Given the description of an element on the screen output the (x, y) to click on. 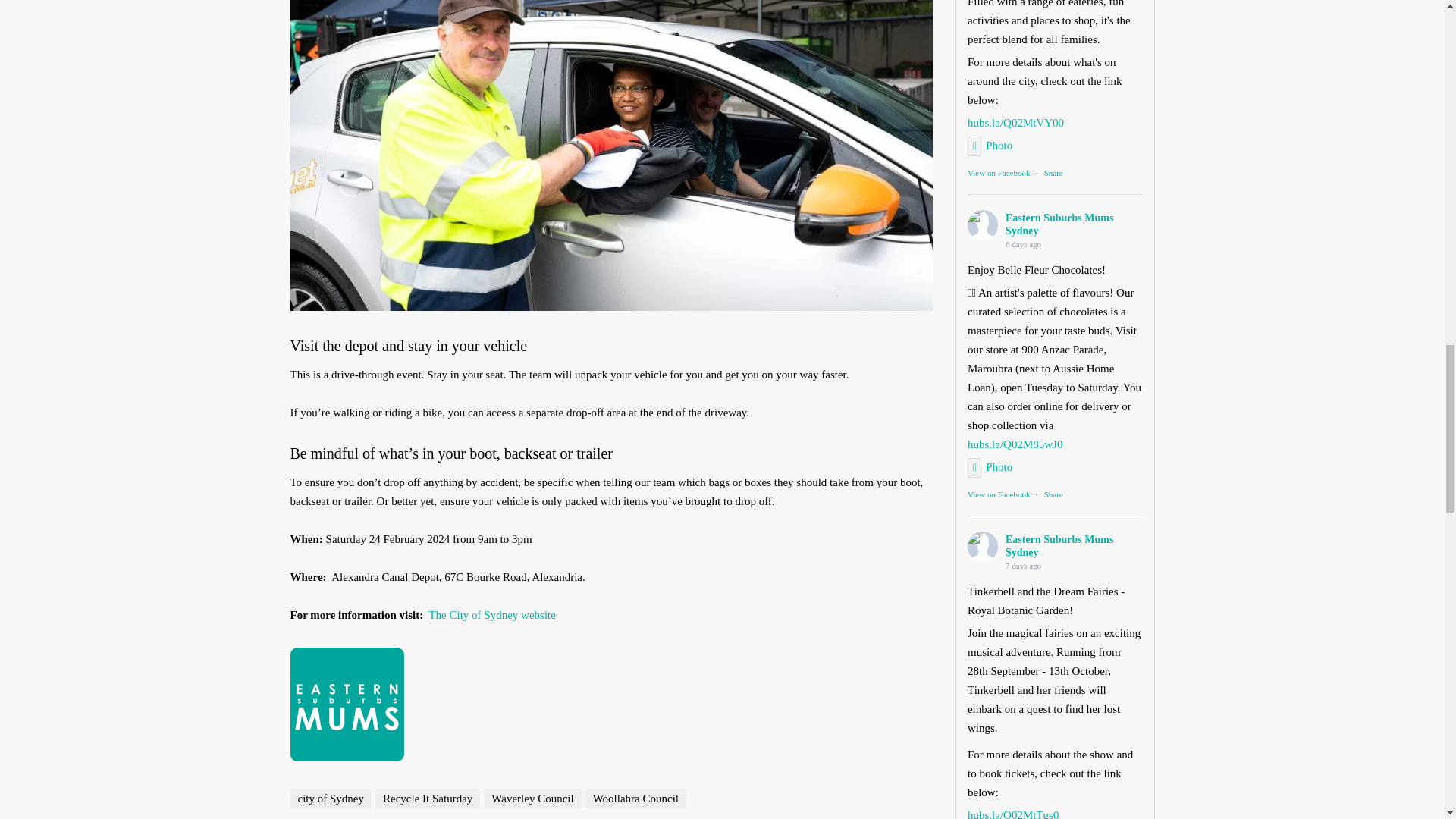
Share (1052, 172)
View on Facebook (998, 493)
Eastern Suburbs Mums Sydney (982, 546)
Eastern Suburbs Mums Sydney (982, 224)
View on Facebook (998, 172)
Share (1052, 493)
